Given the description of an element on the screen output the (x, y) to click on. 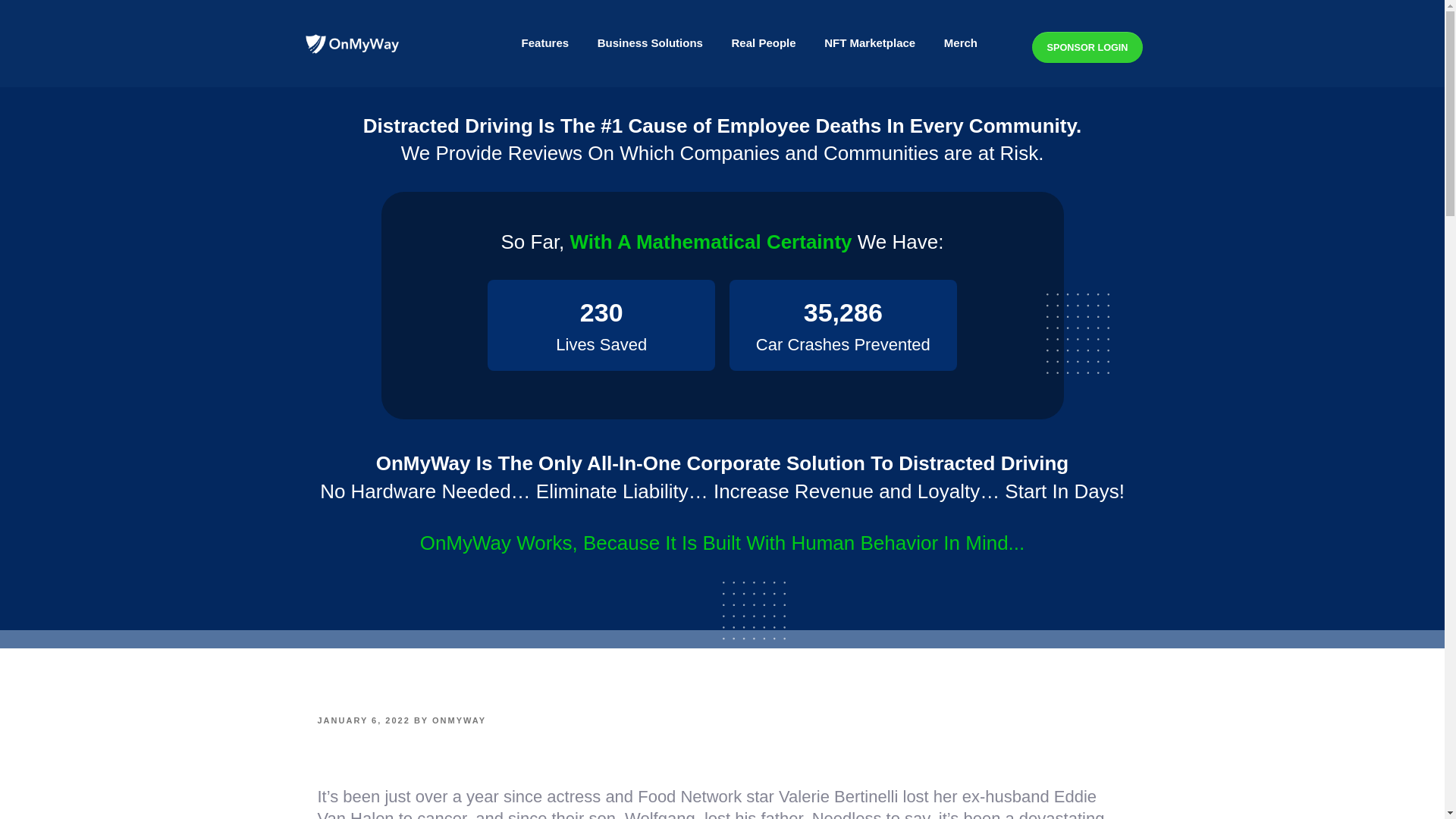
Business Solutions (649, 43)
ONMYWAY (459, 719)
Merch (960, 43)
Real People (763, 43)
Features (544, 43)
SPONSOR LOGIN (1087, 47)
NFT Marketplace (869, 43)
JANUARY 6, 2022 (363, 719)
